Given the description of an element on the screen output the (x, y) to click on. 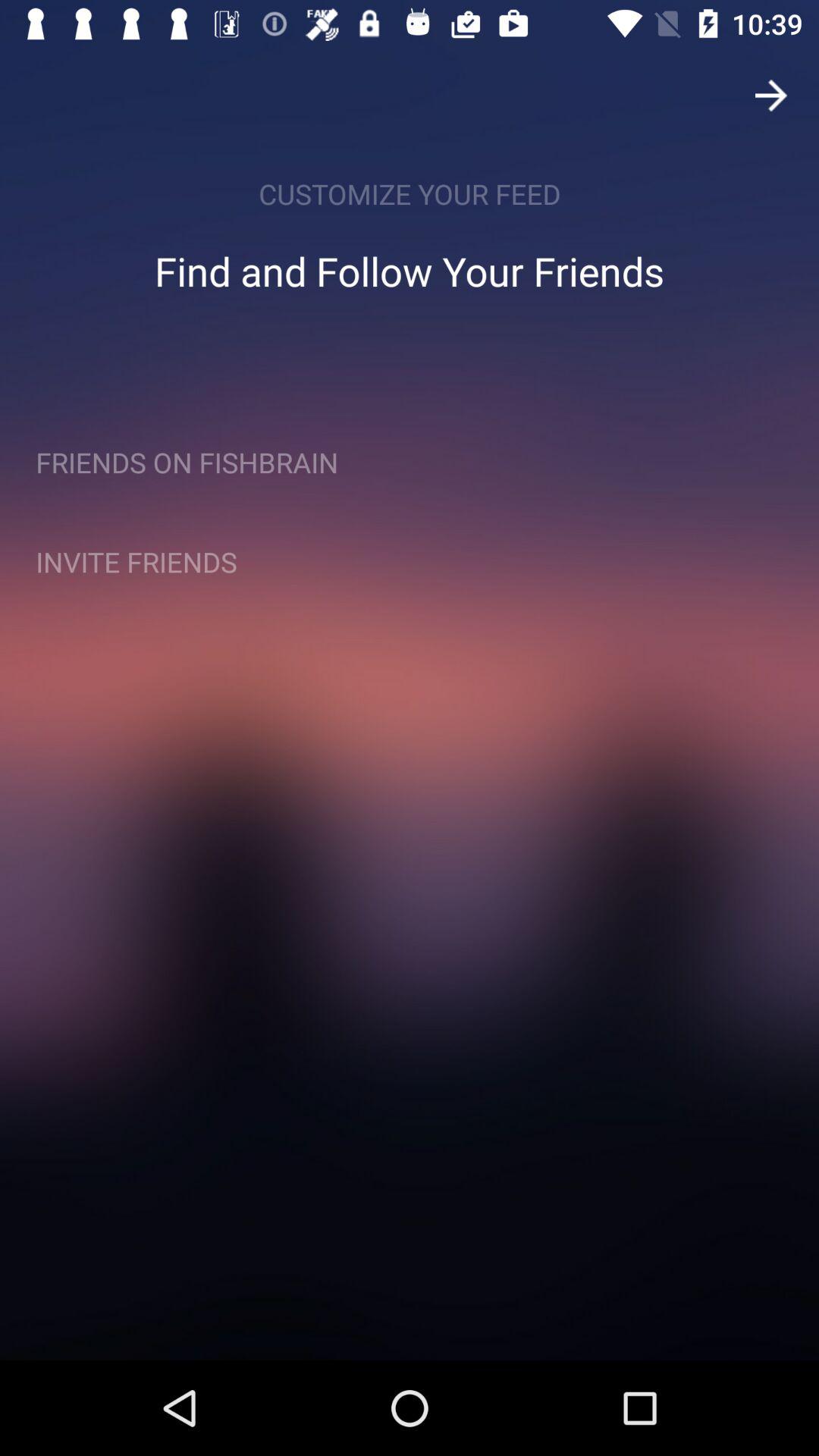
show feed (771, 95)
